Given the description of an element on the screen output the (x, y) to click on. 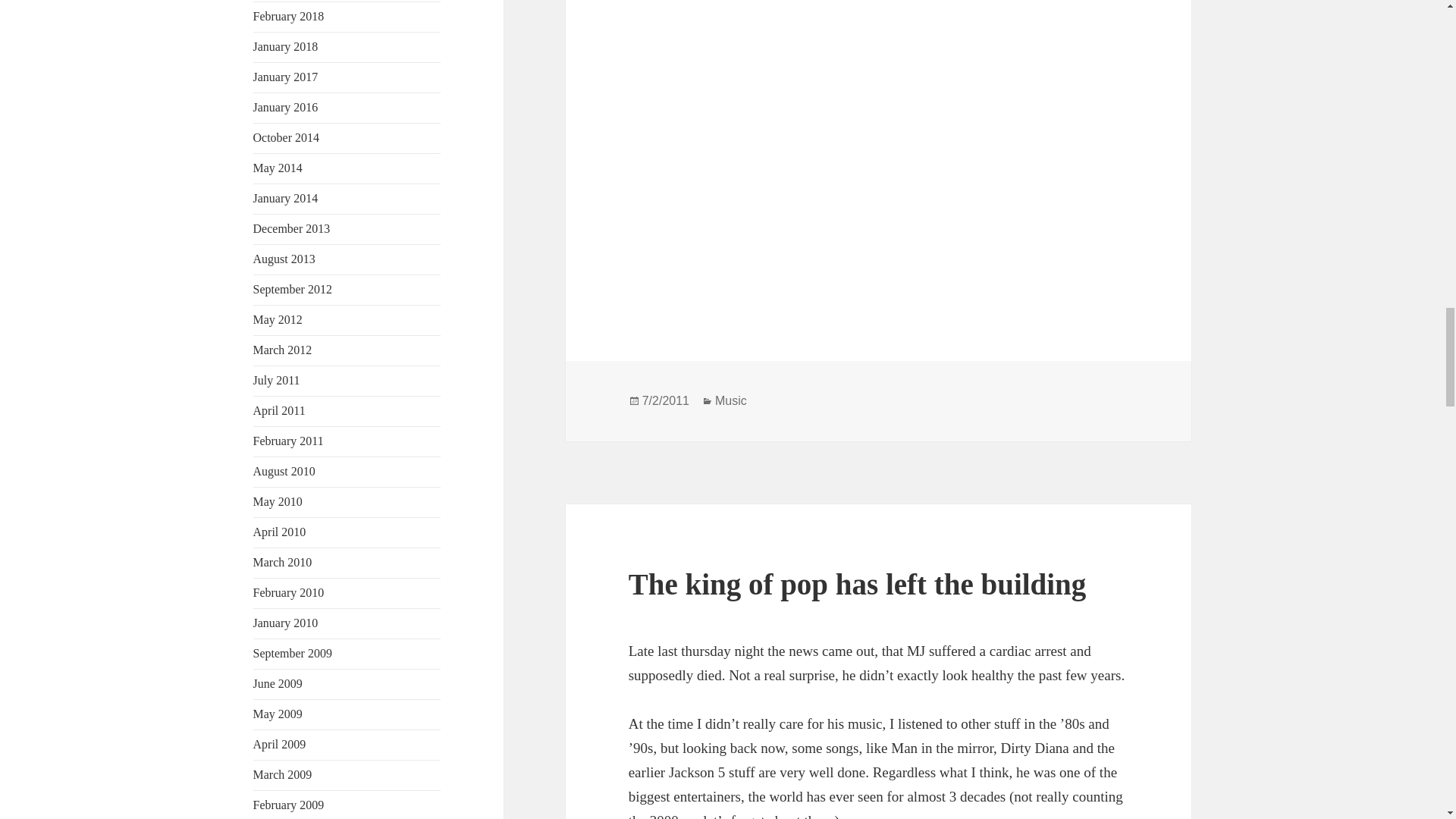
YouTube video player (810, 150)
